Given the description of an element on the screen output the (x, y) to click on. 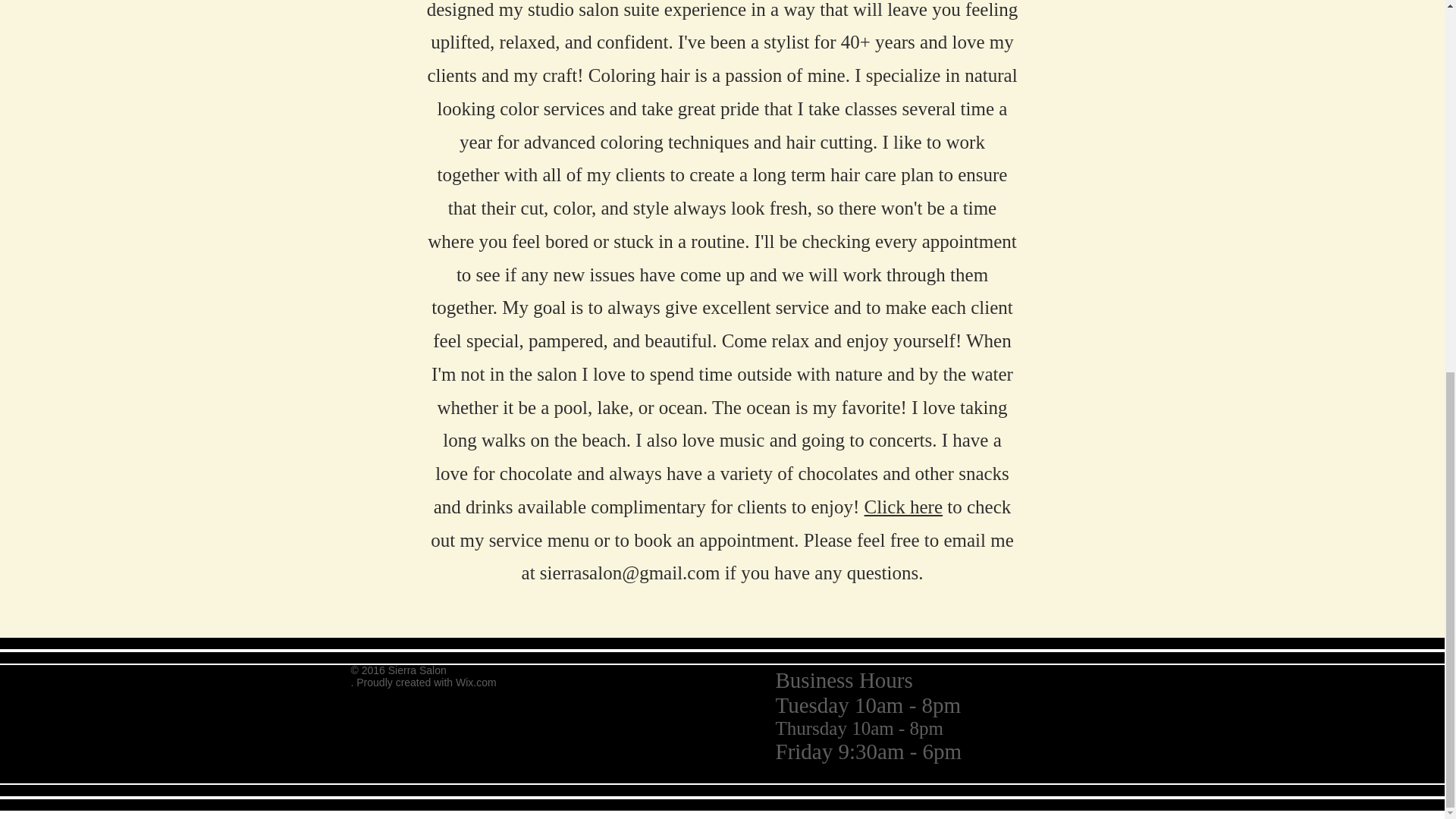
Wix.com (475, 682)
Click here (903, 506)
